Given the description of an element on the screen output the (x, y) to click on. 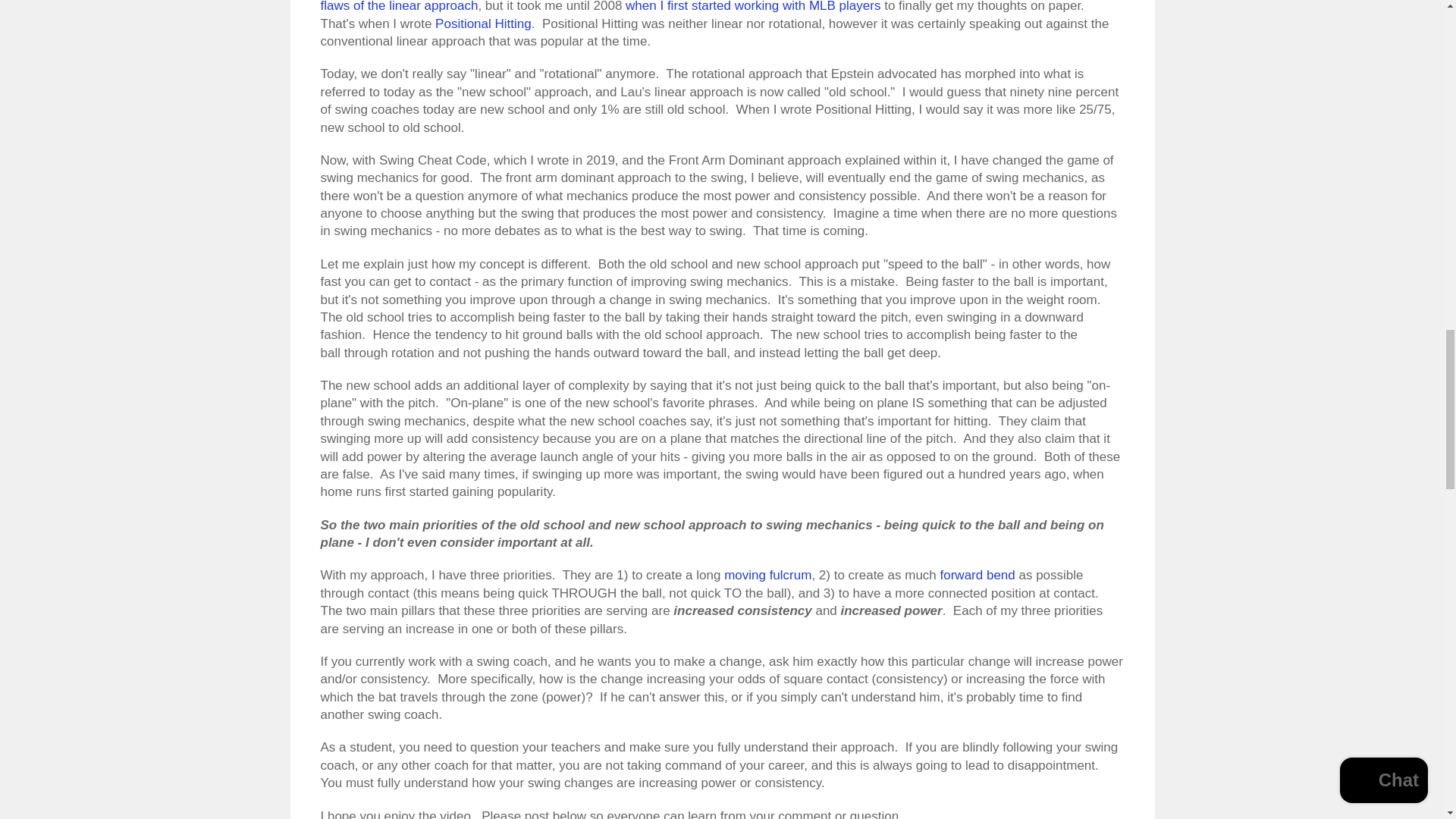
moving fulcrum (766, 575)
when I first started working with MLB players (753, 6)
forward bend (977, 575)
Positional Hitting (483, 23)
